Given the description of an element on the screen output the (x, y) to click on. 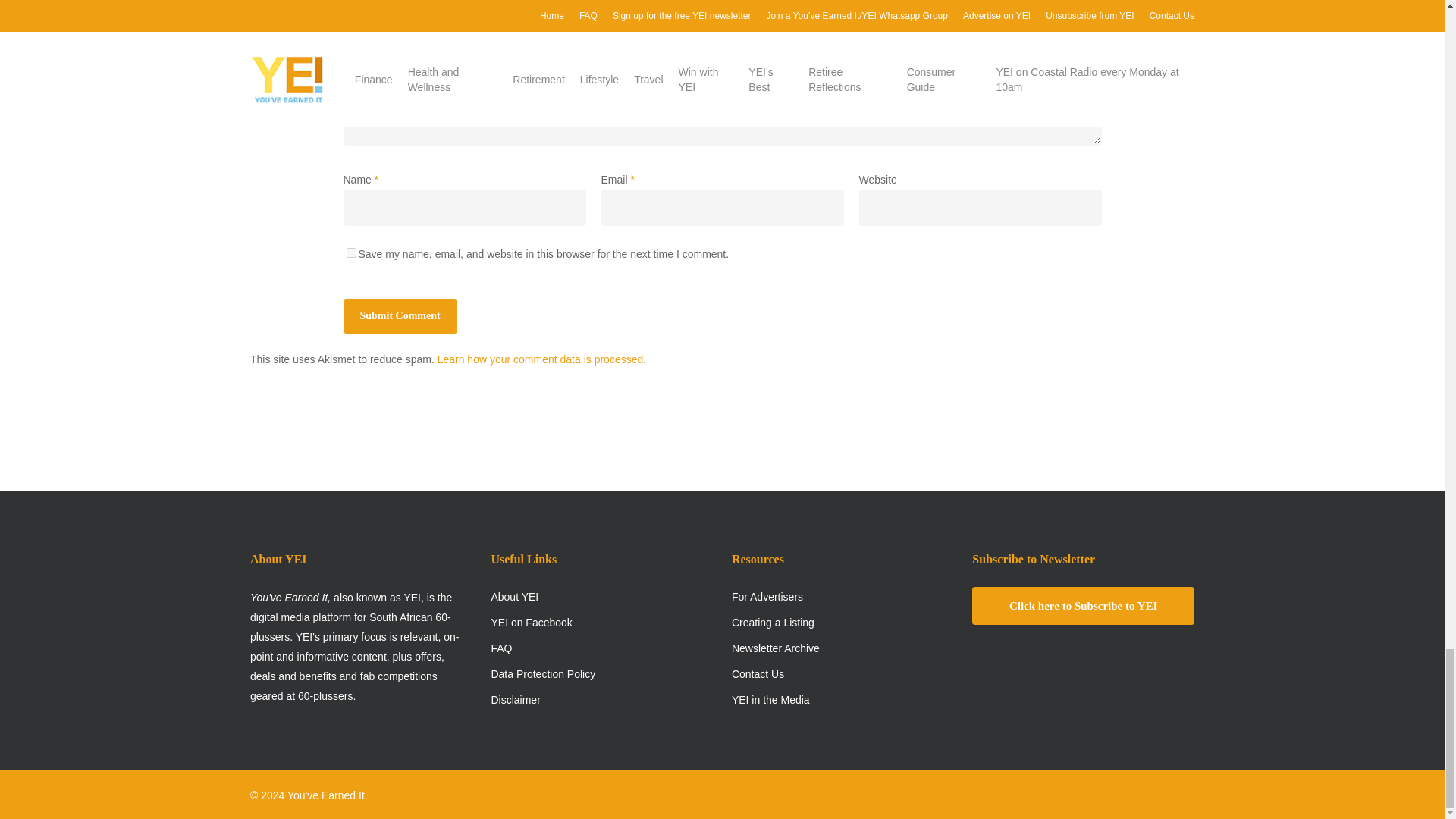
Submit Comment (399, 315)
yes (350, 252)
Learn how your comment data is processed (540, 358)
Submit Comment (399, 315)
